Given the description of an element on the screen output the (x, y) to click on. 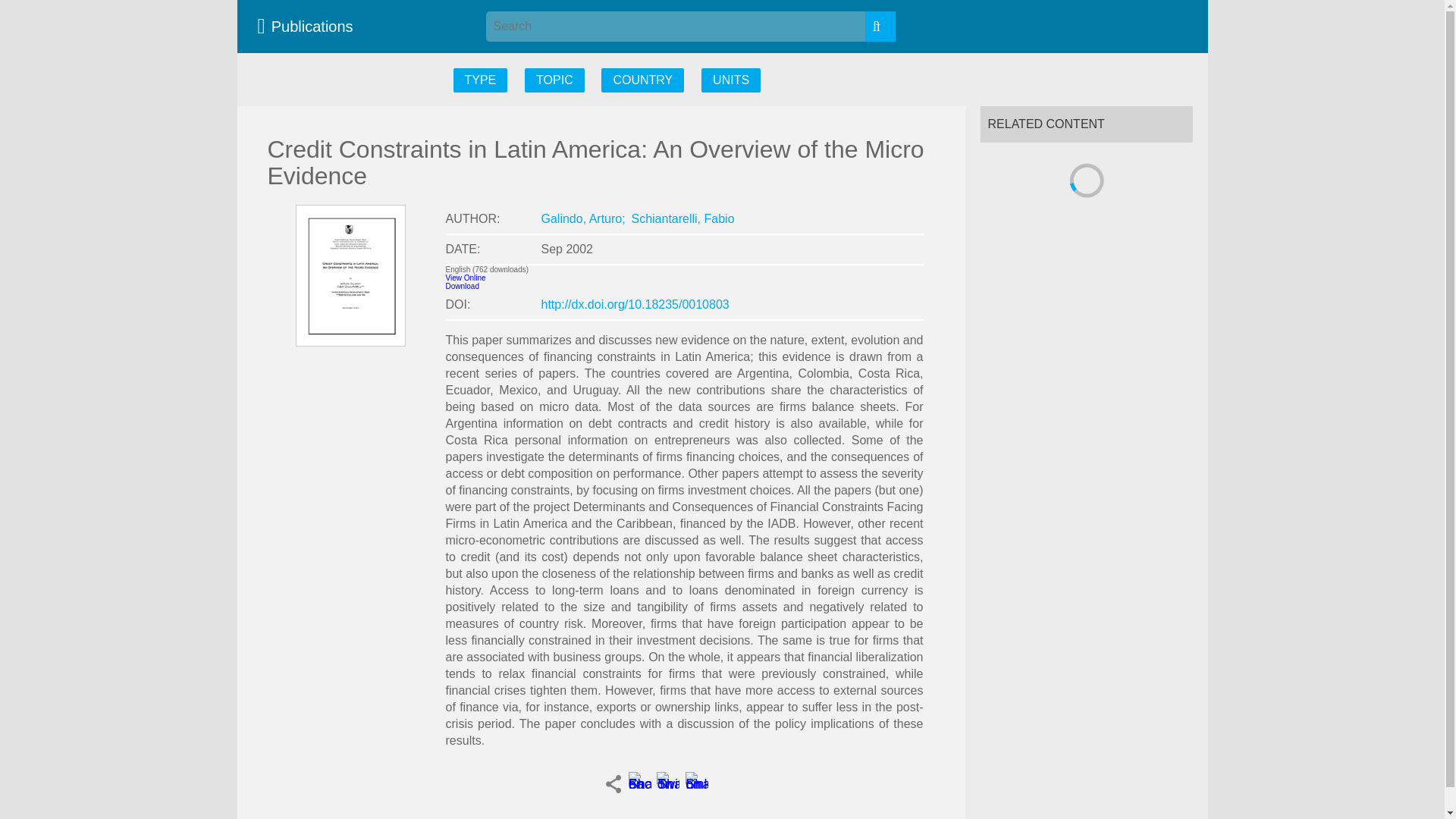
COUNTRY (642, 79)
UNITS (730, 79)
Apply (879, 26)
Share on Facebook (638, 783)
TYPE (480, 79)
Download (462, 285)
View Online (465, 277)
Galindo, Arturo; (583, 218)
Apply (879, 26)
Schiantarelli, Fabio (681, 218)
Share on Twitter (667, 783)
Publications (308, 26)
TOPIC (554, 79)
Share on LinkedIn (696, 783)
